Given the description of an element on the screen output the (x, y) to click on. 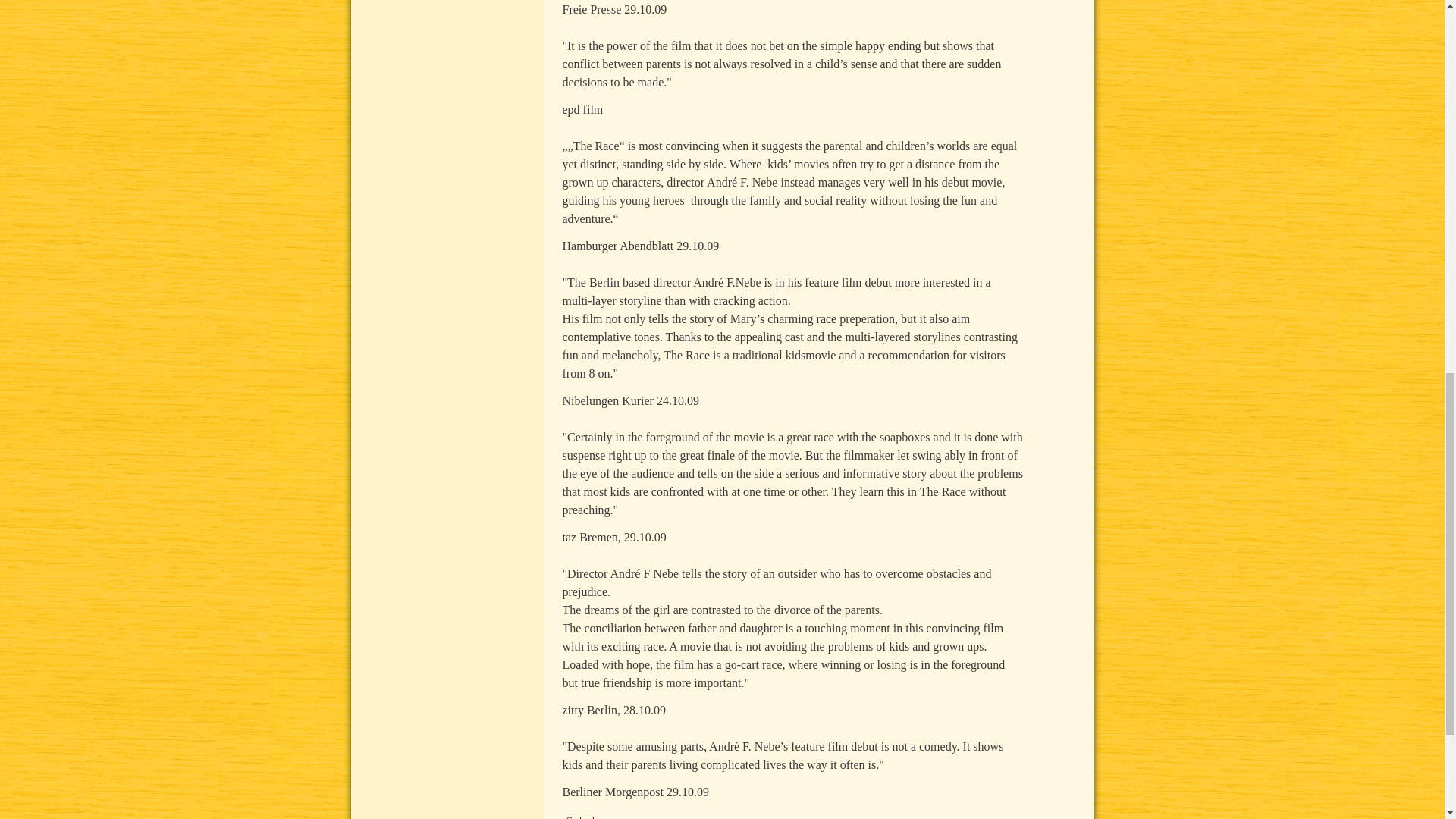
Go back (580, 816)
Go back (580, 816)
